Given the description of an element on the screen output the (x, y) to click on. 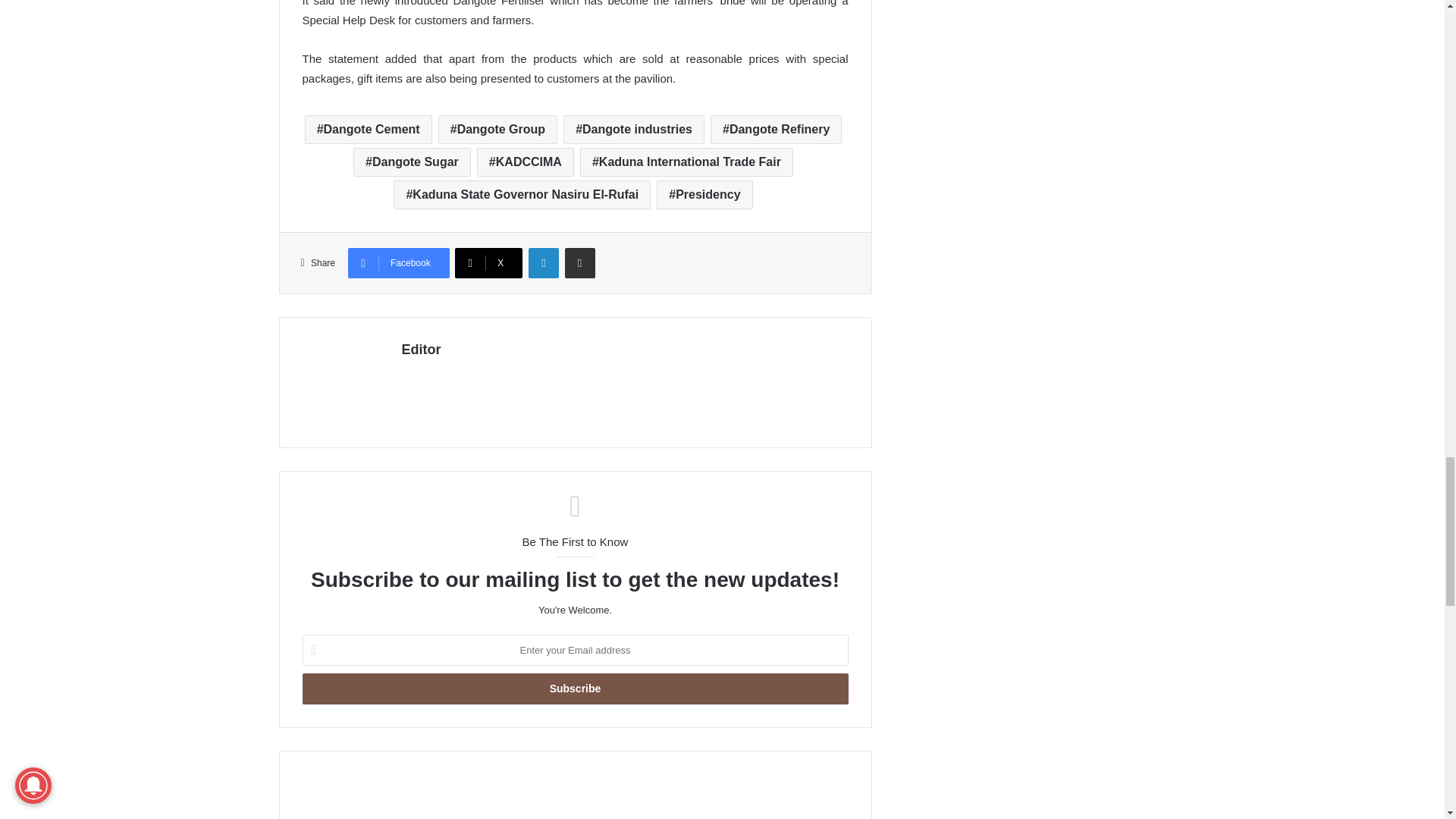
Subscribe (574, 688)
